Given the description of an element on the screen output the (x, y) to click on. 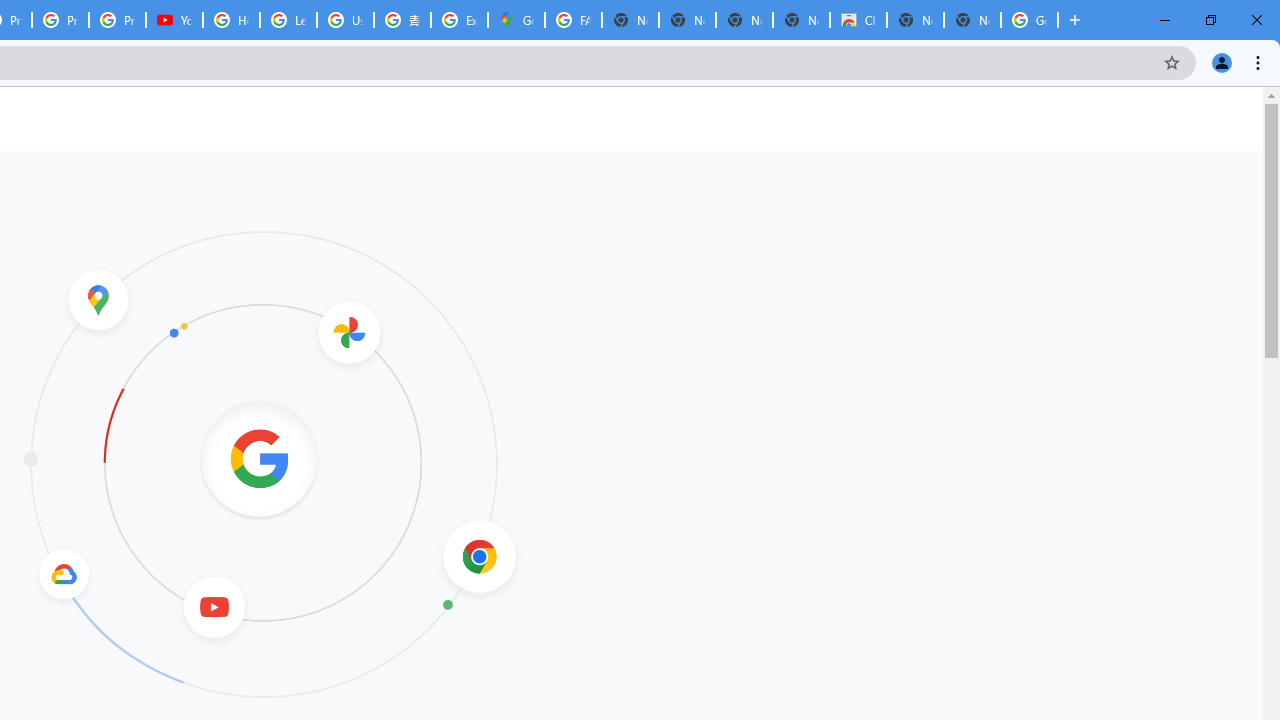
Google Images (1029, 20)
Google Maps (516, 20)
How Chrome protects your passwords - Google Chrome Help (231, 20)
Privacy Checkup (60, 20)
Privacy Checkup (116, 20)
YouTube (174, 20)
Explore new street-level details - Google Maps Help (459, 20)
